Given the description of an element on the screen output the (x, y) to click on. 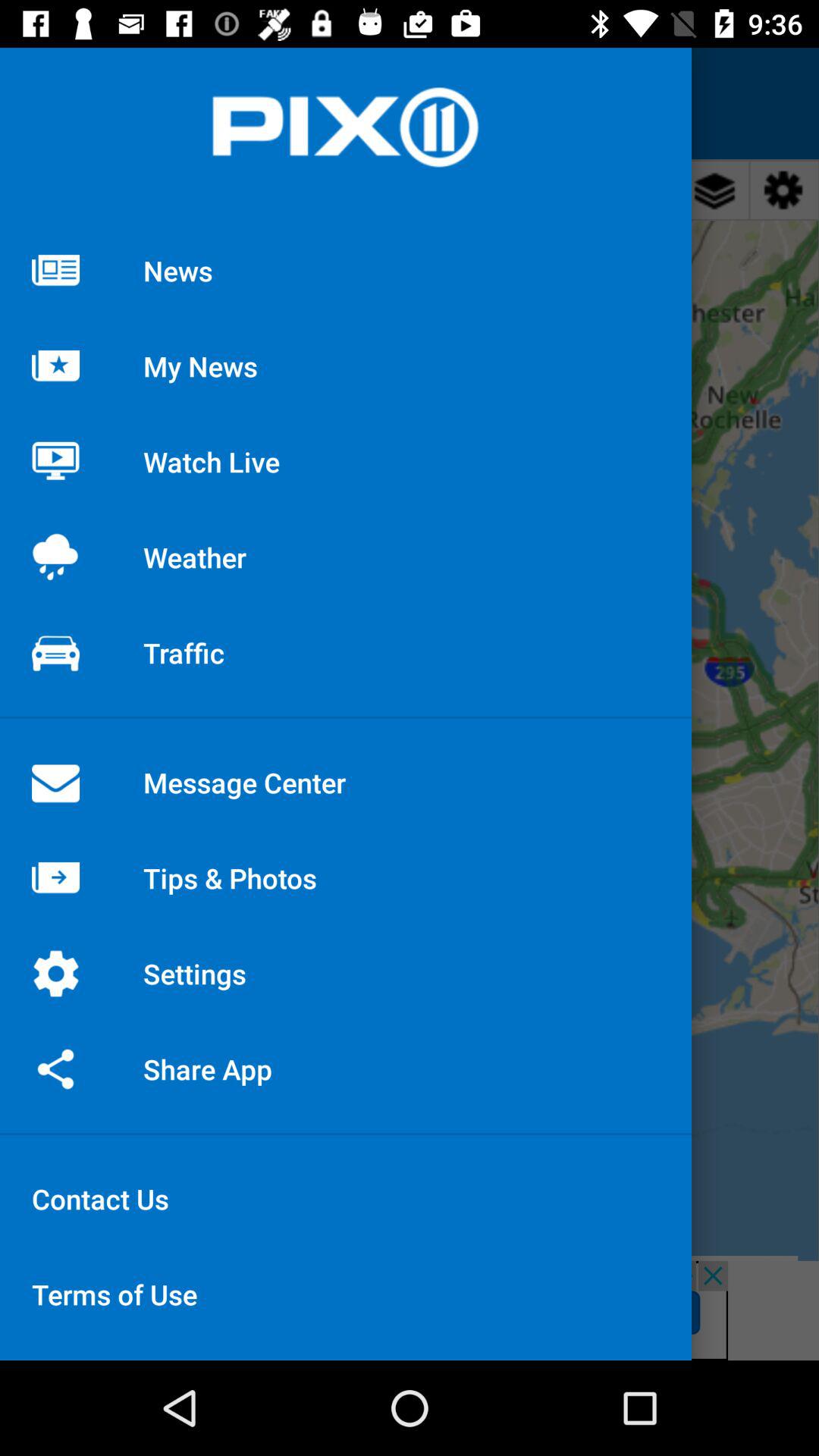
select the header above news (345, 127)
